Given the description of an element on the screen output the (x, y) to click on. 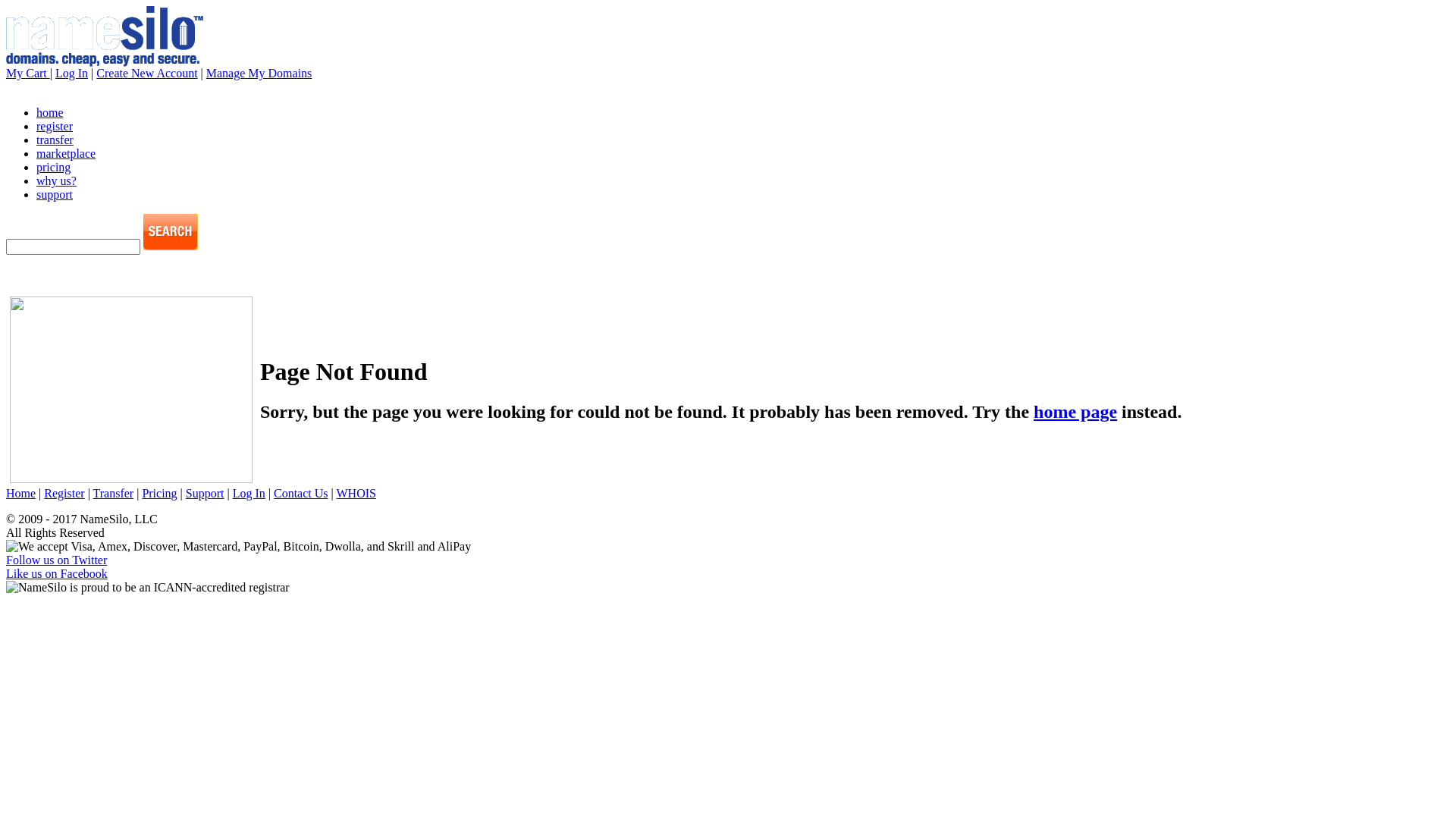
Log In Element type: text (248, 492)
home Element type: text (49, 112)
Support Element type: text (204, 492)
Like us on Facebook Element type: text (56, 573)
My Cart Element type: text (28, 72)
Contact Us Element type: text (300, 492)
Manage My Domains Element type: text (259, 72)
Create New Account Element type: text (146, 72)
support Element type: text (54, 194)
pricing Element type: text (53, 166)
NameSilo is proud to be an ICANN-accredited registrar Element type: hover (147, 587)
Pricing Element type: text (158, 492)
Home Element type: text (20, 492)
register Element type: text (54, 125)
Register Element type: text (63, 492)
Follow us on Twitter Element type: text (56, 559)
WHOIS Element type: text (355, 492)
Log In Element type: text (71, 72)
transfer Element type: text (54, 139)
Transfer Element type: text (113, 492)
home page Element type: text (1075, 411)
why us? Element type: text (56, 180)
marketplace Element type: text (65, 153)
